Given the description of an element on the screen output the (x, y) to click on. 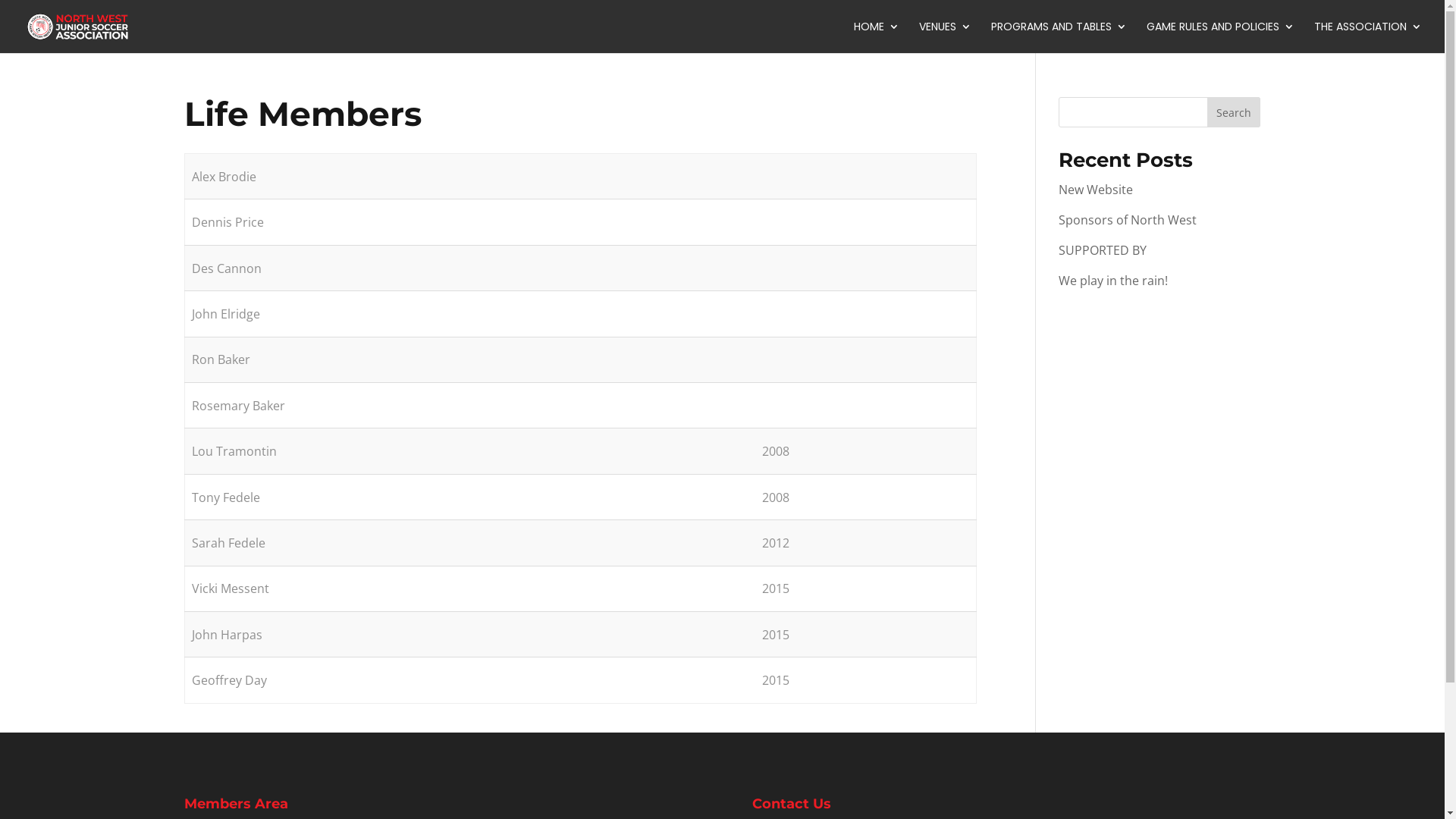
SUPPORTED BY Element type: text (1102, 249)
GAME RULES AND POLICIES Element type: text (1220, 37)
We play in the rain! Element type: text (1112, 280)
VENUES Element type: text (945, 37)
New Website Element type: text (1095, 189)
PROGRAMS AND TABLES Element type: text (1058, 37)
Search Element type: text (1233, 112)
THE ASSOCIATION Element type: text (1367, 37)
Sponsors of North West Element type: text (1127, 219)
HOME Element type: text (876, 37)
